Given the description of an element on the screen output the (x, y) to click on. 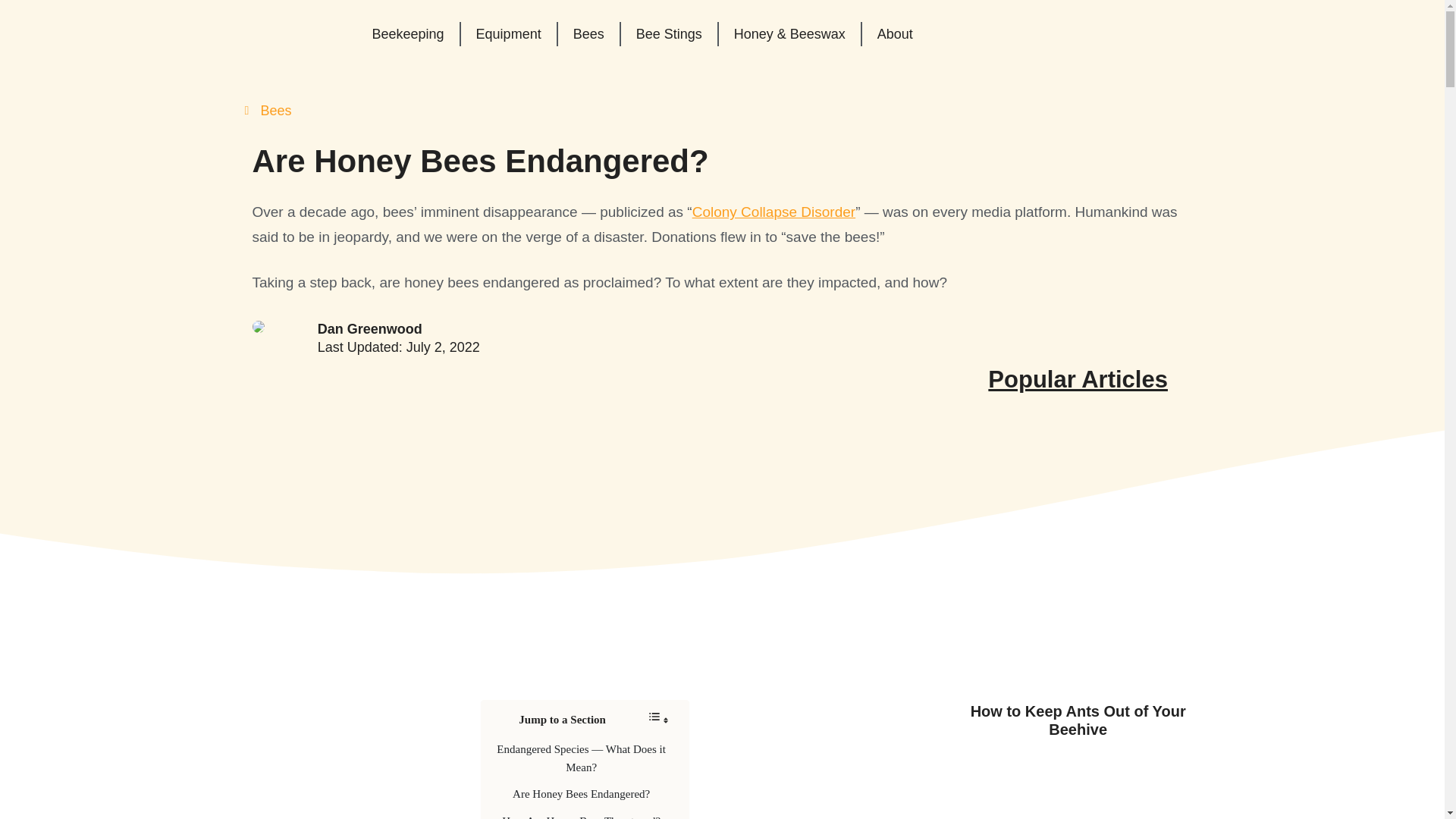
Colony Collapse Disorder (774, 211)
How Are Honey Bees Threatened? (581, 815)
Bees (276, 110)
Bee Stings (669, 33)
About (894, 33)
Beekeeping (407, 33)
Bees (588, 33)
Are Honey Bees Endangered? (580, 793)
How Are Honey Bees Threatened? (581, 815)
Are Honey Bees Endangered? (580, 793)
Equipment (508, 33)
